Given the description of an element on the screen output the (x, y) to click on. 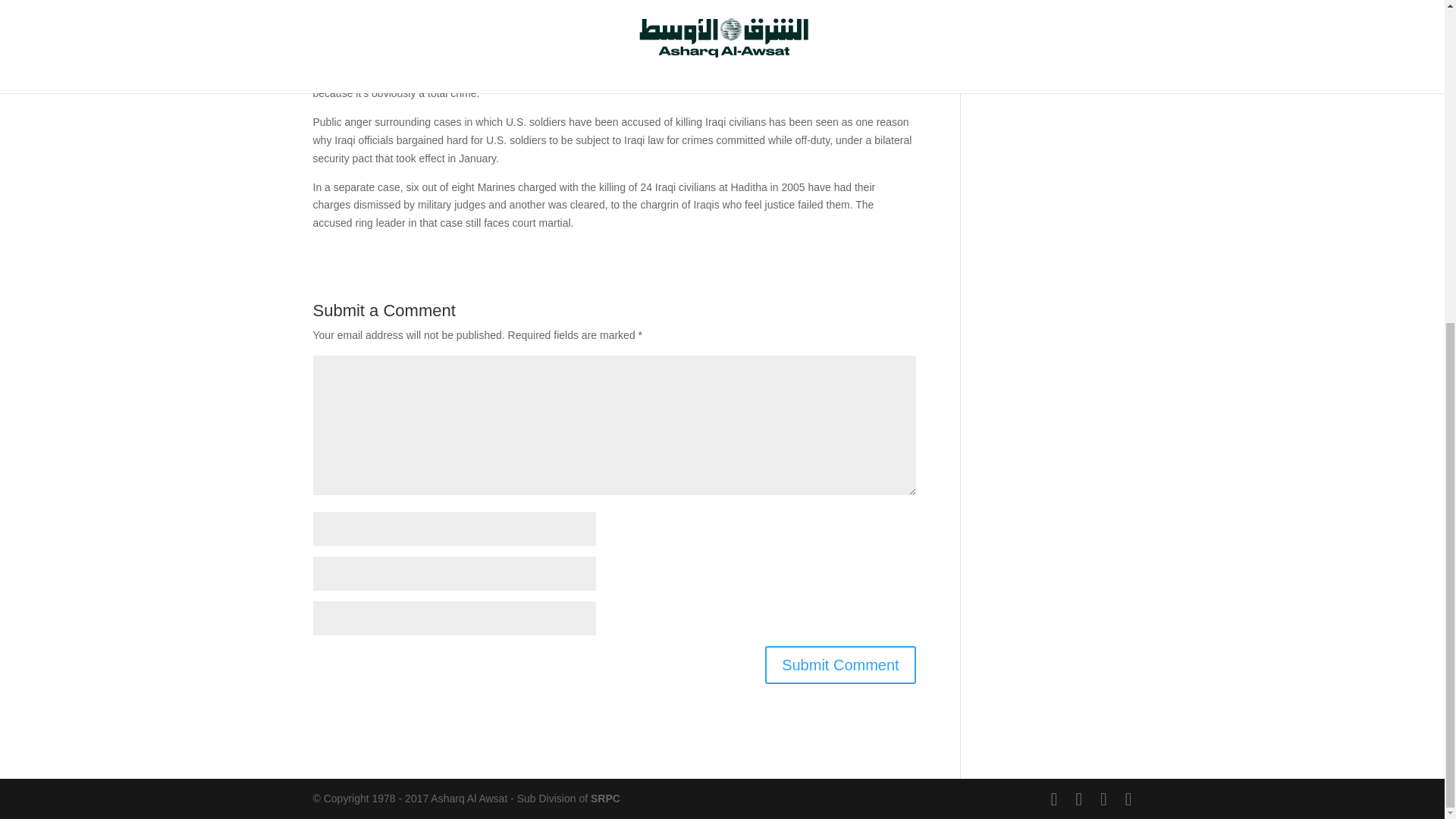
Submit Comment (840, 664)
SRPC (605, 798)
Submit Comment (840, 664)
